Given the description of an element on the screen output the (x, y) to click on. 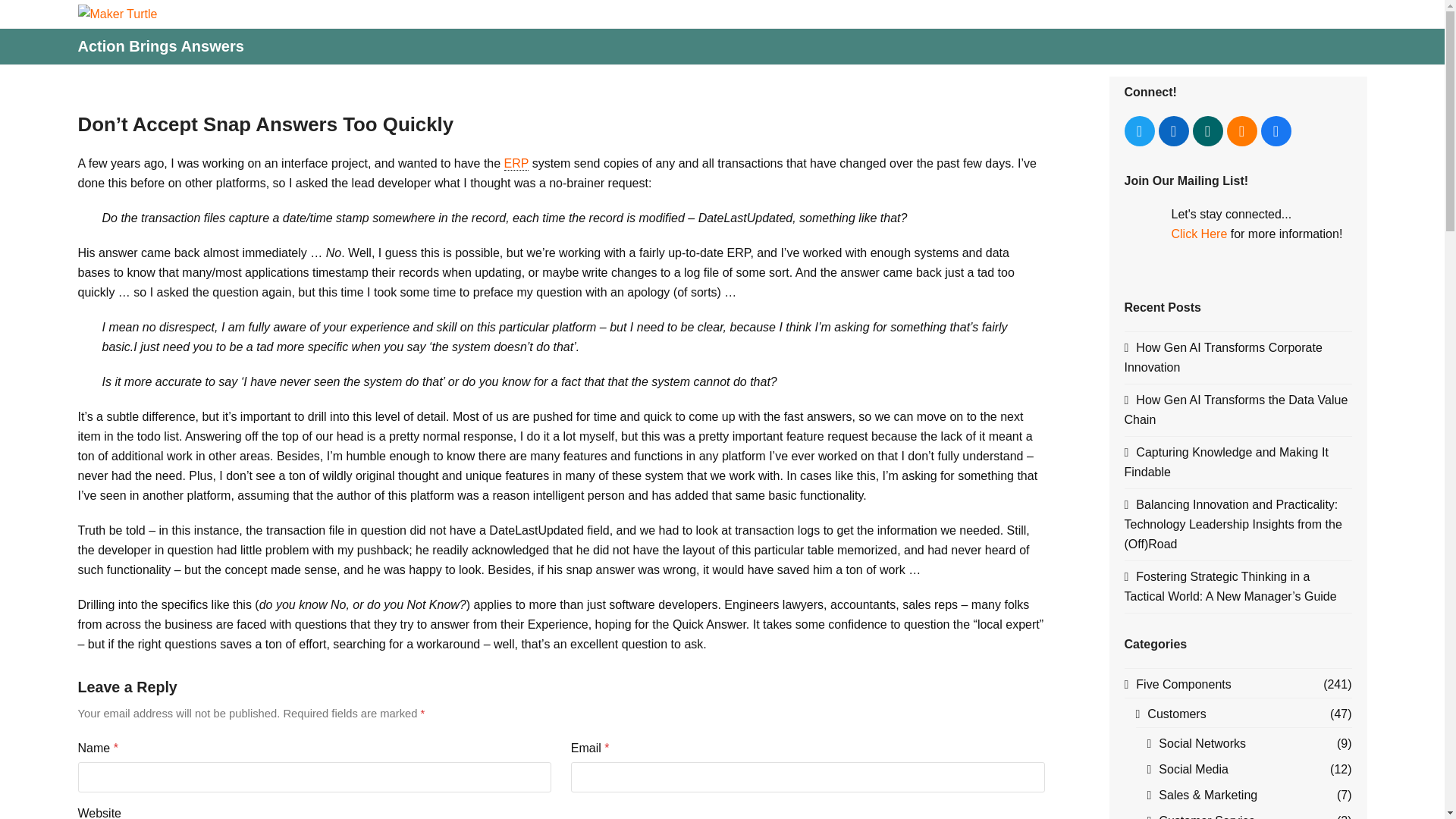
Facebook (1275, 131)
Facebook (1275, 131)
LinkedIn (1173, 131)
ERP (516, 163)
Xing (1207, 131)
Twitter (1139, 131)
RSS (1242, 131)
Xing (1207, 131)
RSS (1242, 131)
LinkedIn (1173, 131)
Twitter (1139, 131)
